Given the description of an element on the screen output the (x, y) to click on. 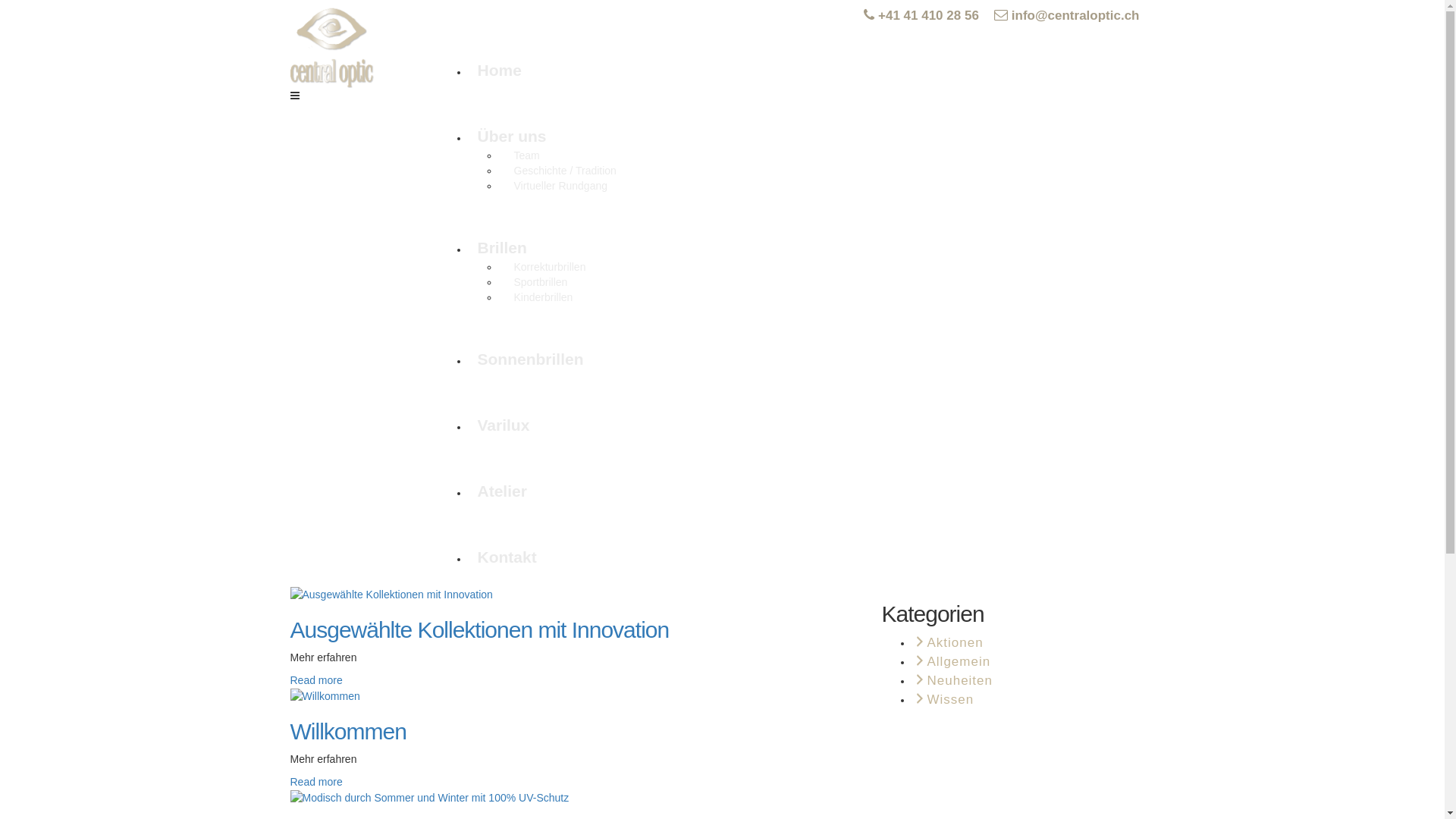
Willkommen Element type: text (347, 730)
Neuheiten Element type: text (951, 680)
Sonnenbrillen Element type: text (530, 358)
Team Element type: text (526, 155)
Brillen Element type: text (502, 247)
+41 41 410 28 56 Element type: text (921, 15)
Korrekturbrillen Element type: text (549, 266)
info@centraloptic.ch Element type: text (1066, 15)
Geschichte / Tradition Element type: text (564, 170)
Allgemein Element type: text (950, 661)
Sportbrillen Element type: text (540, 281)
Kontakt Element type: text (507, 556)
Read more Element type: text (315, 680)
Aktionen Element type: text (946, 642)
Kinderbrillen Element type: text (543, 297)
Virtueller Rundgang Element type: text (560, 185)
Home Element type: text (499, 69)
Wissen Element type: text (942, 699)
Willkommen Element type: hover (324, 695)
Atelier Element type: text (502, 490)
Modisch durch Sommer und Winter mit 100% UV-Schutz Element type: hover (428, 796)
Read more Element type: text (315, 781)
Modisch durch Sommer und Winter mit 100% UV-Schutz Element type: hover (428, 797)
Varilux Element type: text (503, 424)
Willkommen Element type: hover (324, 695)
